Given the description of an element on the screen output the (x, y) to click on. 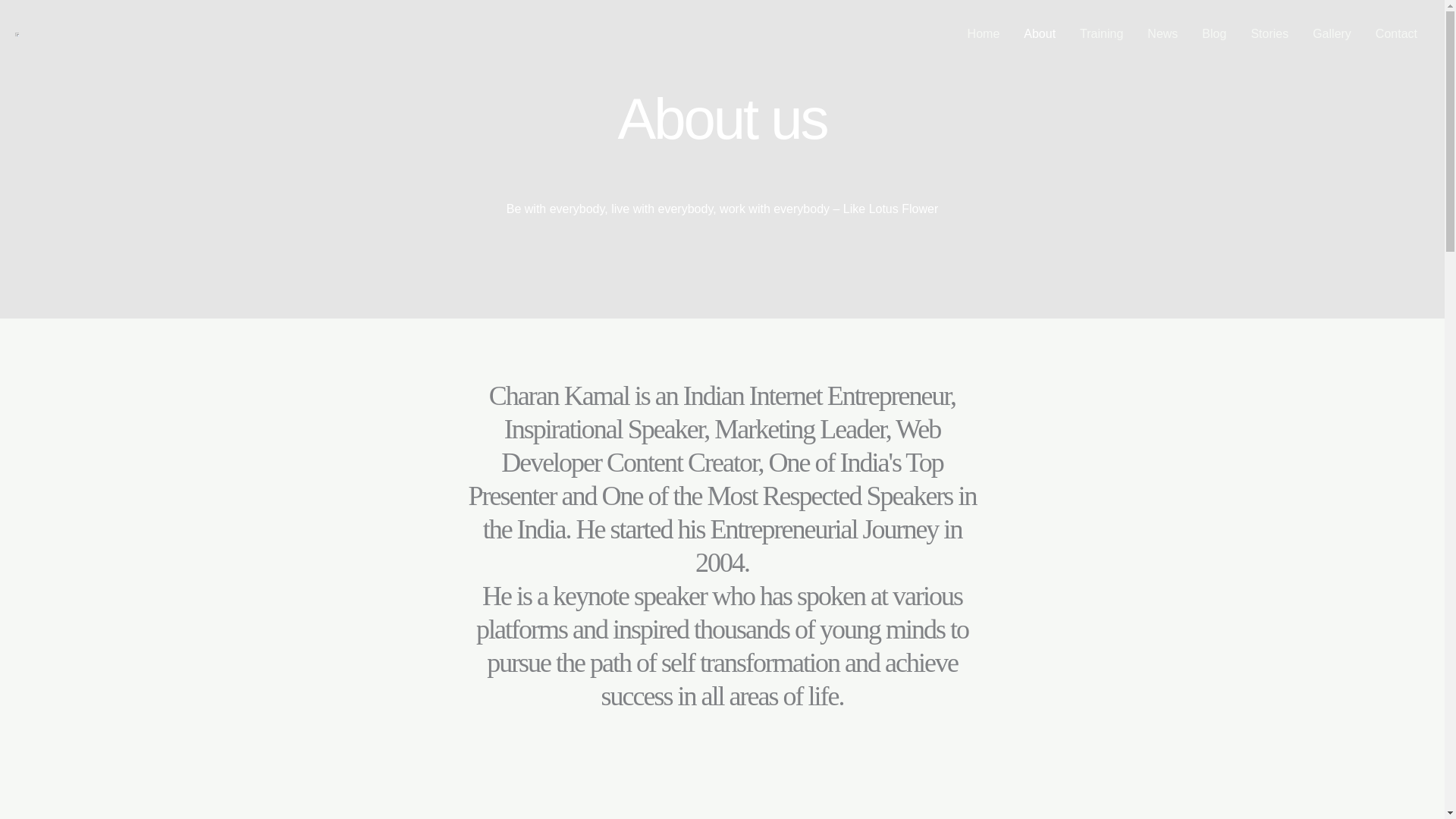
Gallery (1331, 33)
Contact (1395, 33)
Blog (1214, 33)
About (1039, 33)
Training (1101, 33)
Home (983, 33)
News (1162, 33)
Stories (1269, 33)
